Given the description of an element on the screen output the (x, y) to click on. 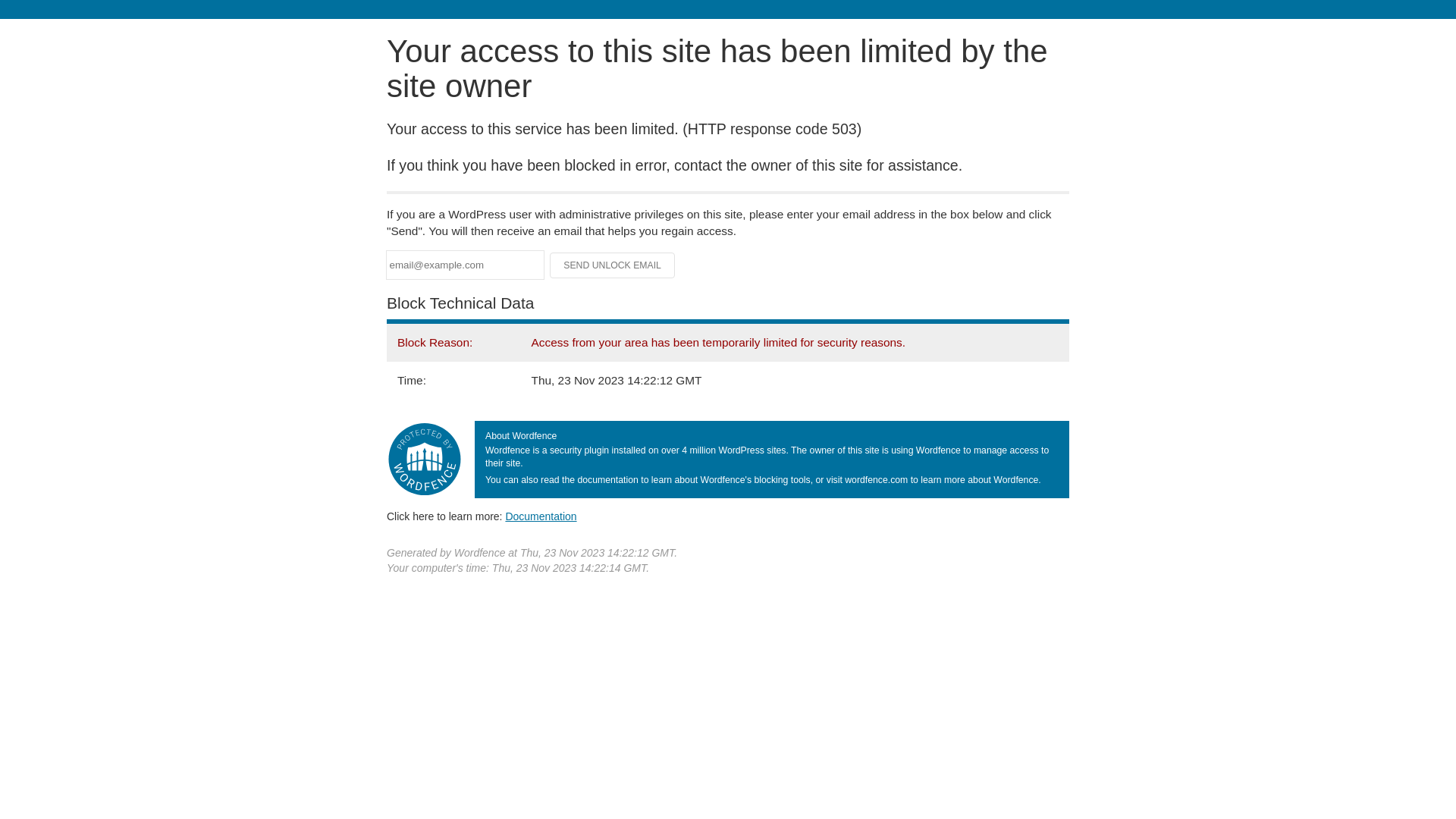
Send Unlock Email Element type: text (612, 265)
Documentation Element type: text (540, 516)
